Given the description of an element on the screen output the (x, y) to click on. 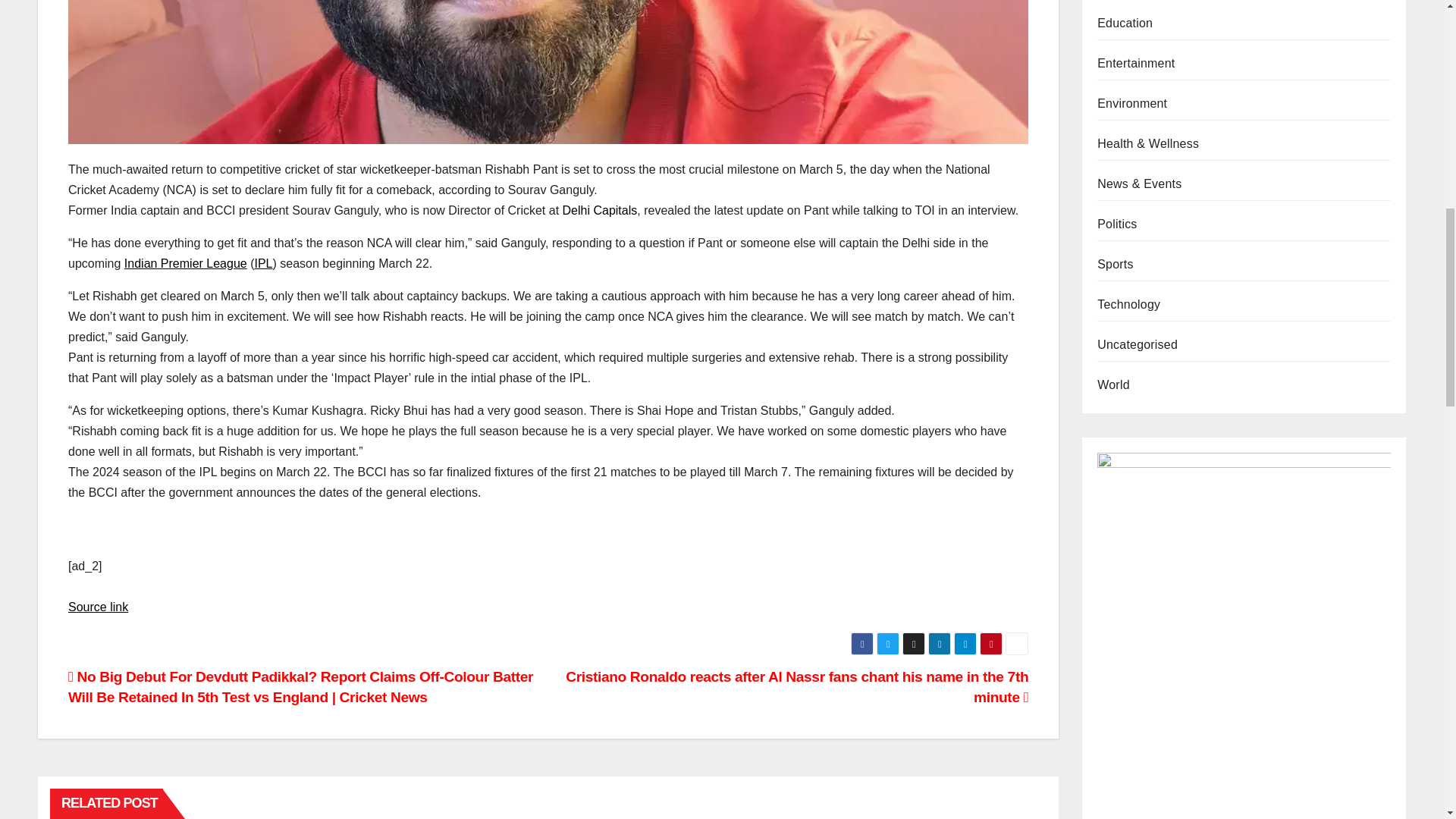
Source link (98, 606)
IPL (263, 263)
Delhi Capitals (599, 210)
Indian Premier League (185, 263)
